Given the description of an element on the screen output the (x, y) to click on. 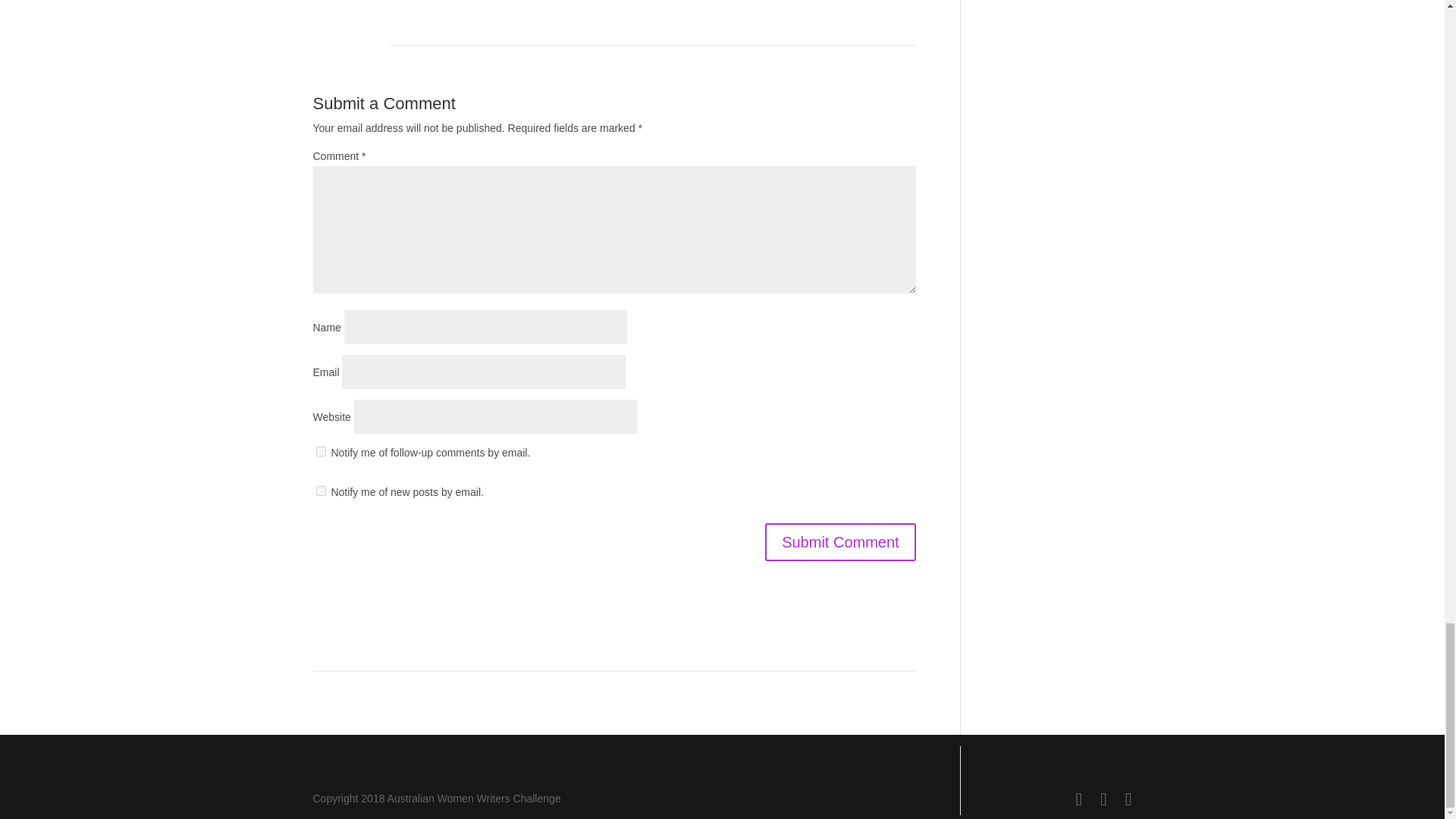
Submit Comment (840, 542)
subscribe (319, 491)
subscribe (319, 451)
